Given the description of an element on the screen output the (x, y) to click on. 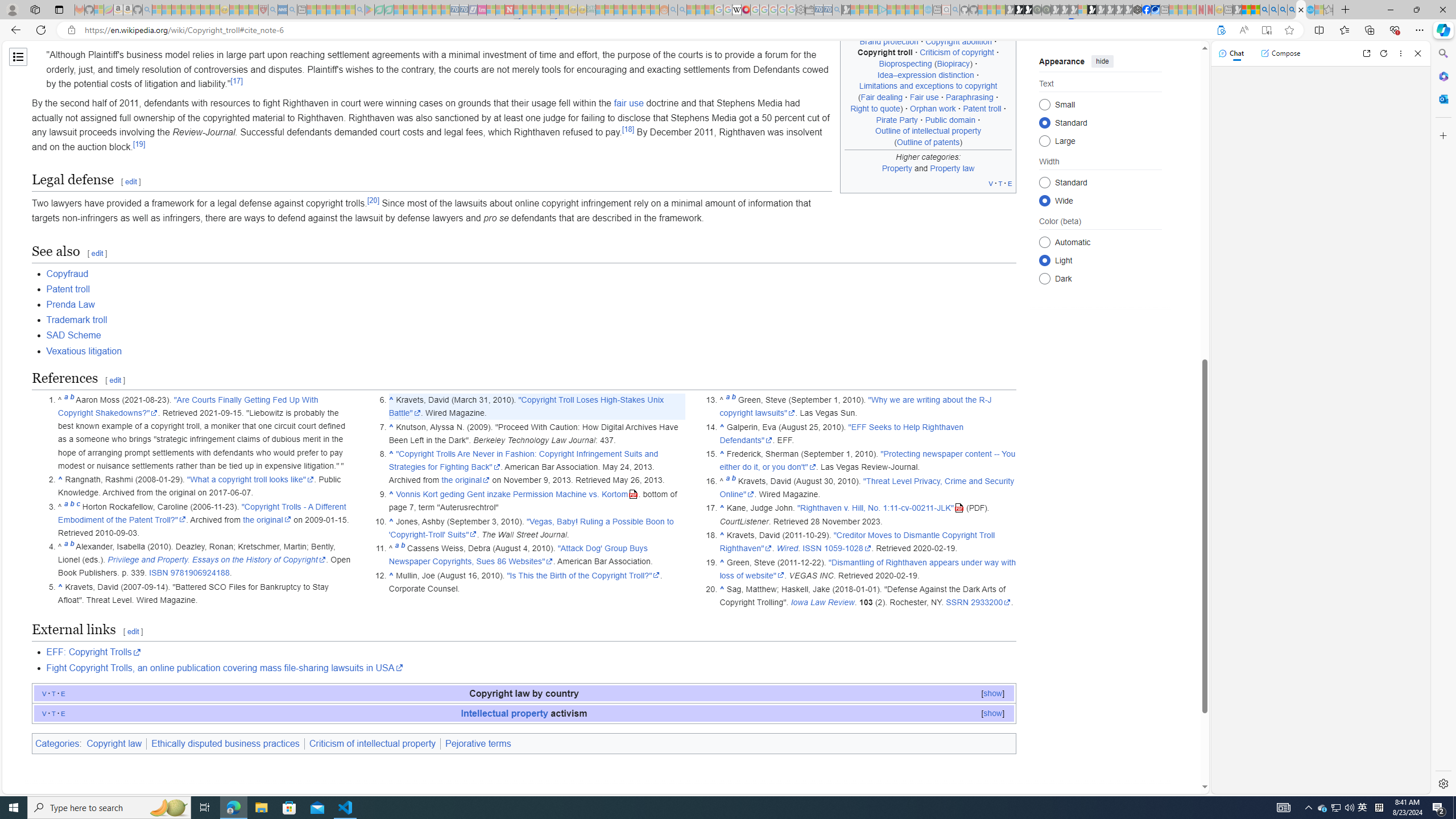
Patent troll (68, 289)
Open link in new tab (1366, 53)
Intellectual property (504, 712)
github - Search - Sleeping (954, 9)
edit (132, 631)
Prenda Law (70, 304)
[20] (373, 200)
hide (1102, 60)
